Given the description of an element on the screen output the (x, y) to click on. 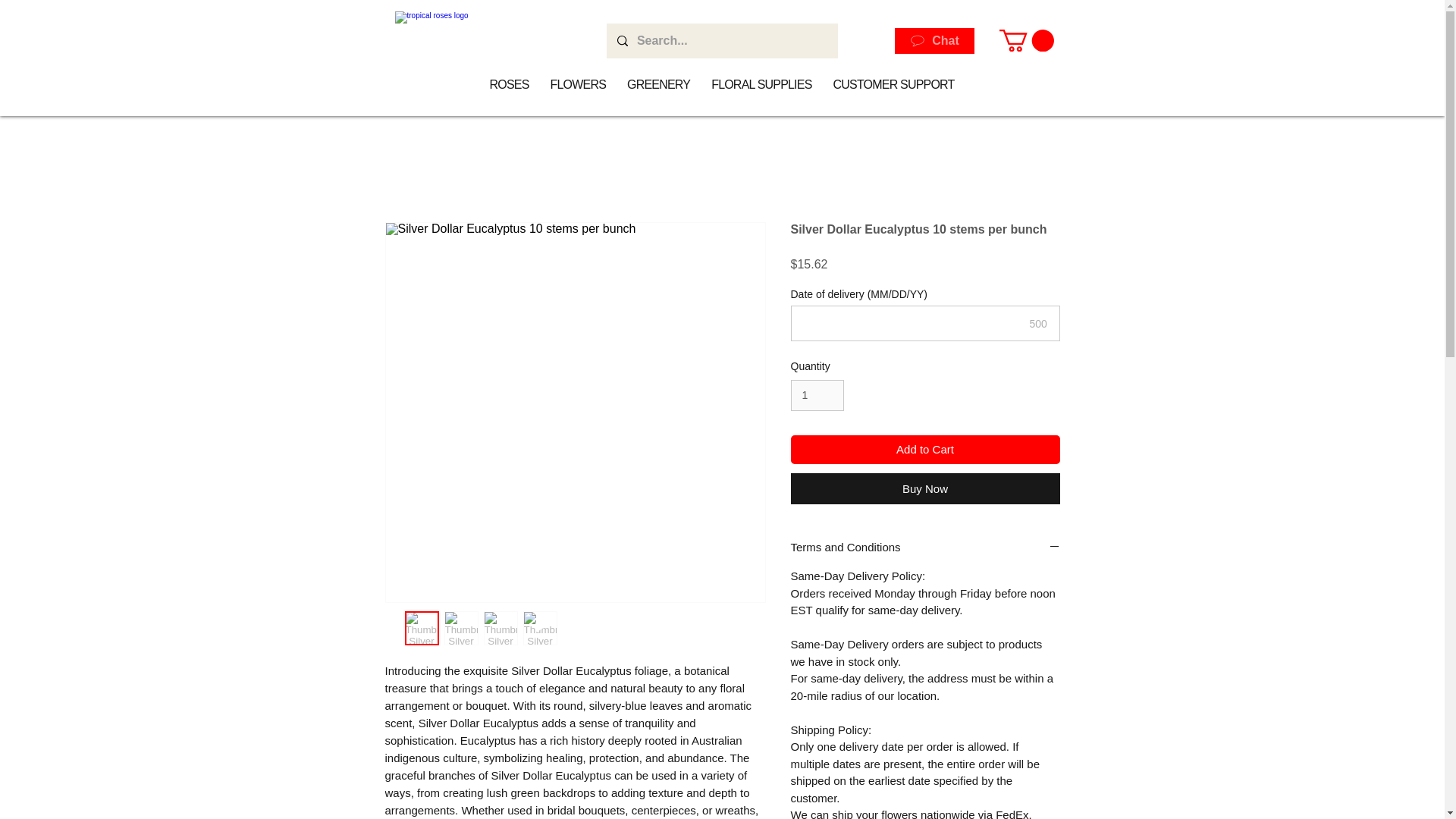
ROSES (509, 84)
GREENERY (658, 84)
Chat (934, 40)
Add to Cart (924, 449)
Buy Now (924, 488)
FLORAL SUPPLIES (760, 84)
1 (817, 395)
FLOWERS (578, 84)
Terms and Conditions (924, 547)
